Given the description of an element on the screen output the (x, y) to click on. 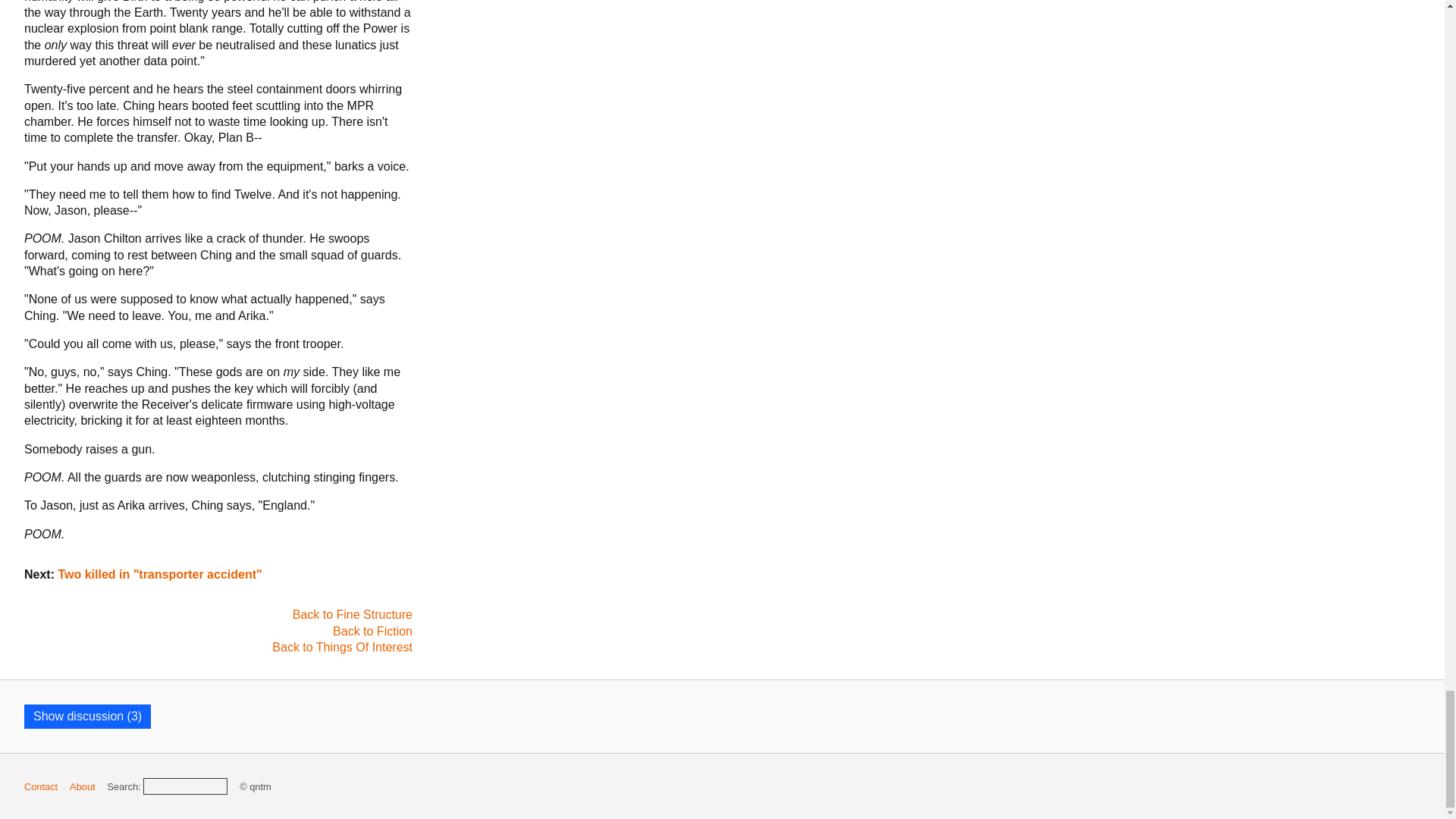
Back to Fine Structure (352, 614)
About (81, 786)
Back to Fiction (372, 631)
Two killed in "transporter accident" (160, 574)
Back to Things Of Interest (342, 646)
Contact (41, 786)
